Given the description of an element on the screen output the (x, y) to click on. 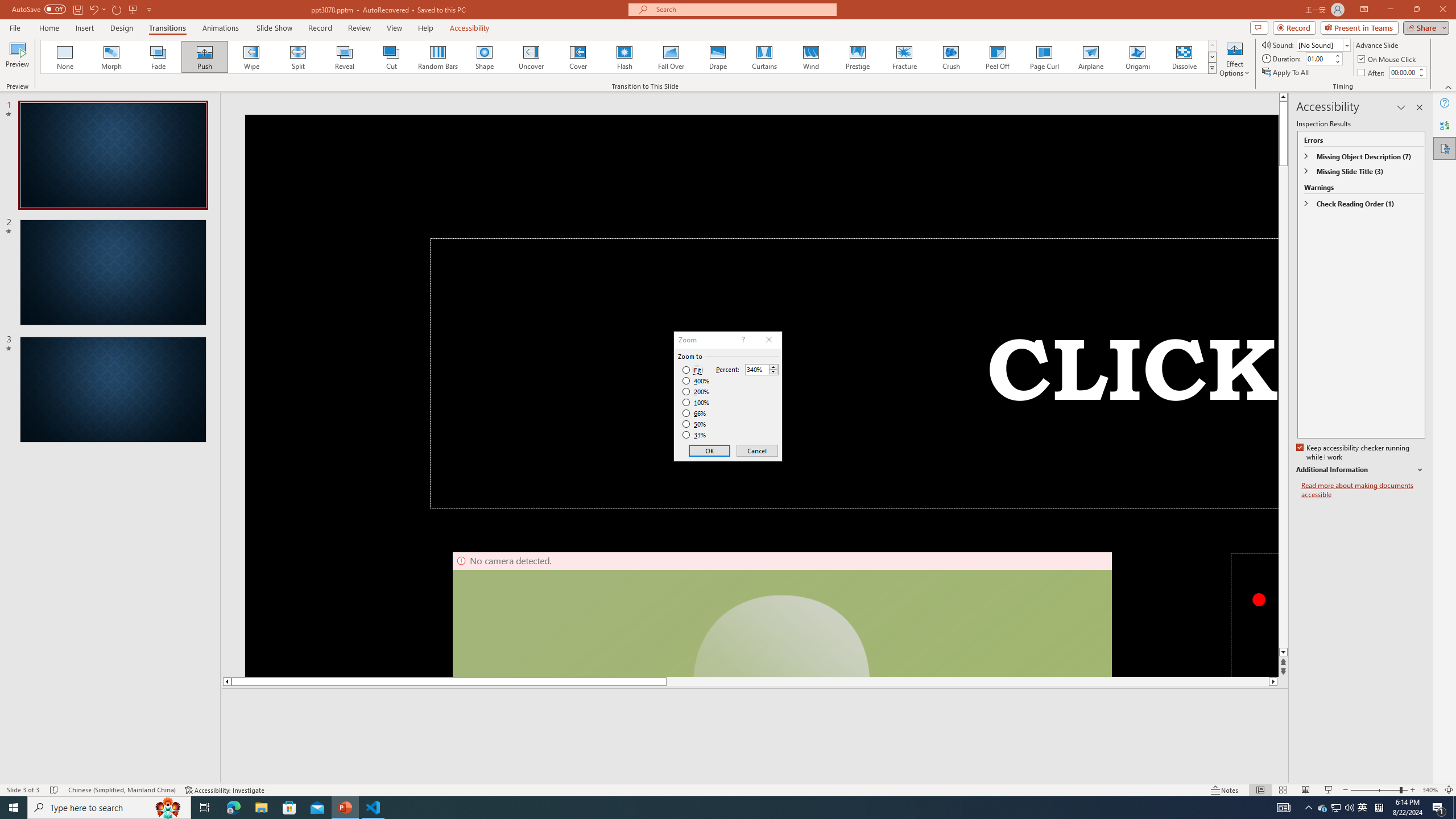
100% (696, 402)
Apply To All (1286, 72)
Prestige (857, 56)
Wind (810, 56)
Wipe (251, 56)
